Given the description of an element on the screen output the (x, y) to click on. 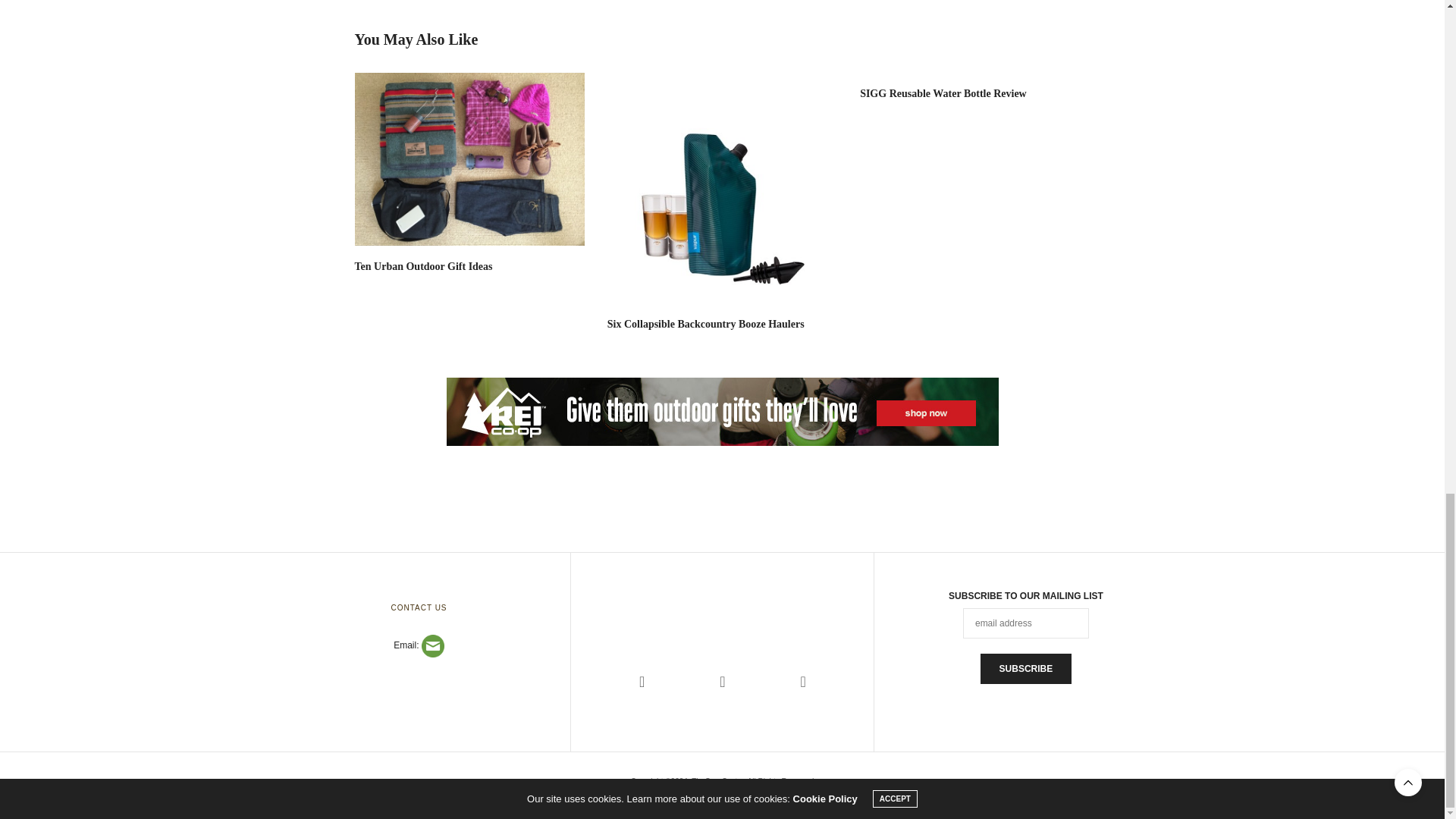
Six Collapsible Backcountry Booze Haulers (722, 187)
Subscribe (1025, 668)
SIGG Reusable Water Bottle Review (943, 93)
Ten Urban Outdoor Gift Ideas (424, 266)
Ten Urban Outdoor Gift Ideas (470, 158)
Six Collapsible Backcountry Booze Haulers (706, 324)
